Given the description of an element on the screen output the (x, y) to click on. 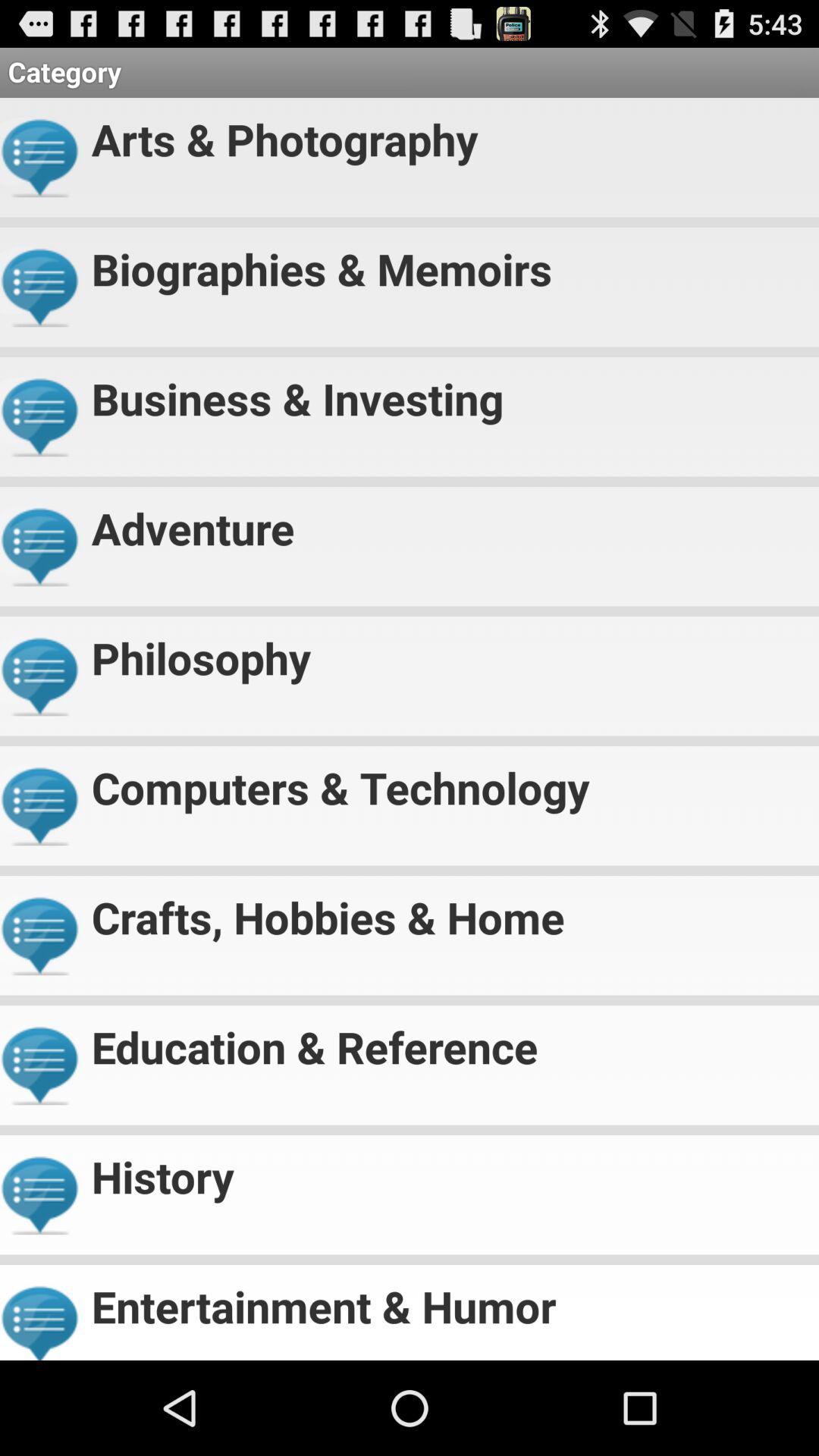
launch the business & investing app (449, 392)
